Given the description of an element on the screen output the (x, y) to click on. 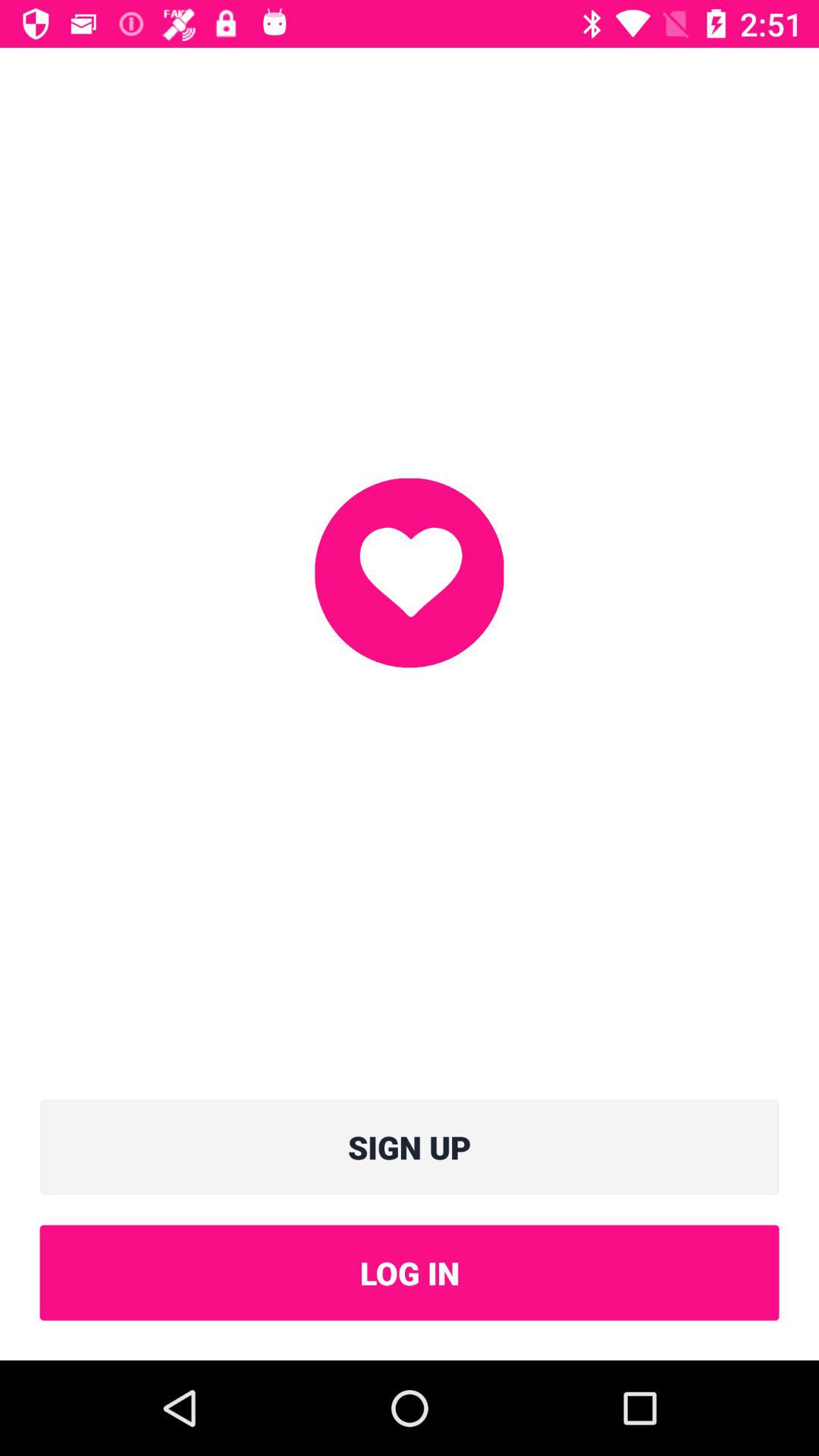
swipe until the log in (409, 1272)
